Given the description of an element on the screen output the (x, y) to click on. 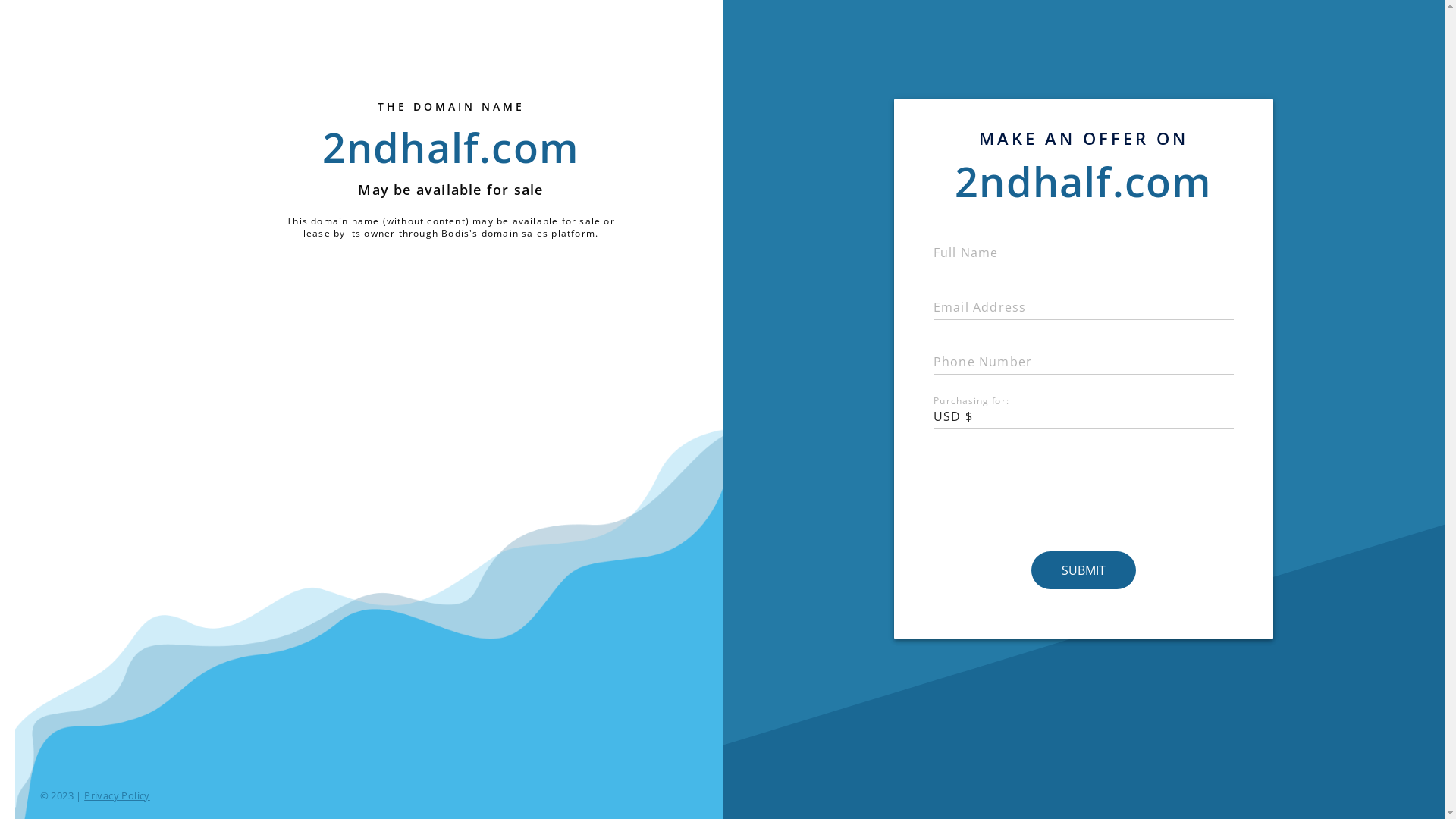
reCAPTCHA Element type: hover (1083, 490)
